Given the description of an element on the screen output the (x, y) to click on. 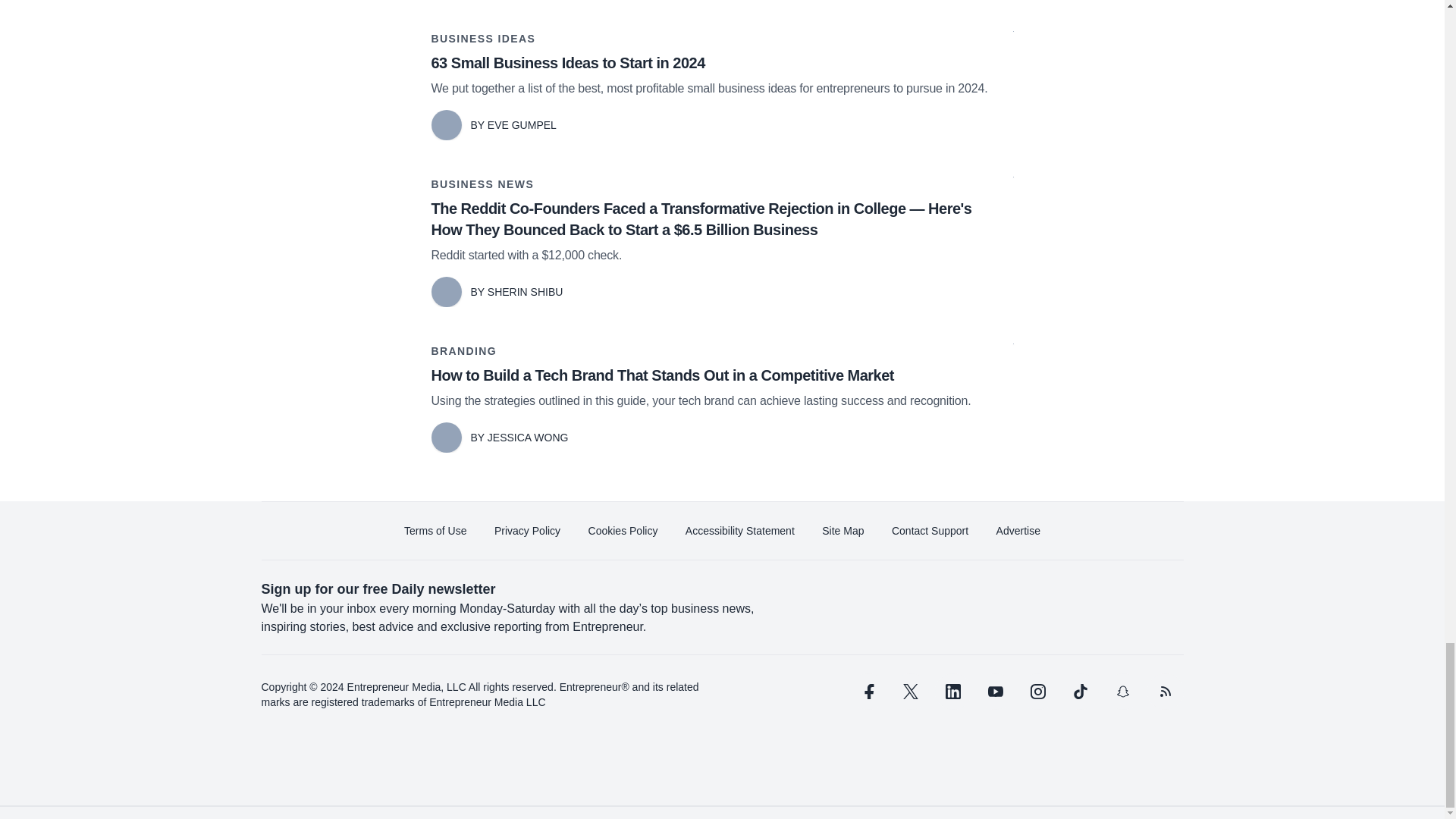
tiktok (1079, 691)
twitter (909, 691)
instagram (1037, 691)
snapchat (1121, 691)
youtube (994, 691)
facebook (866, 691)
linkedin (952, 691)
